Given the description of an element on the screen output the (x, y) to click on. 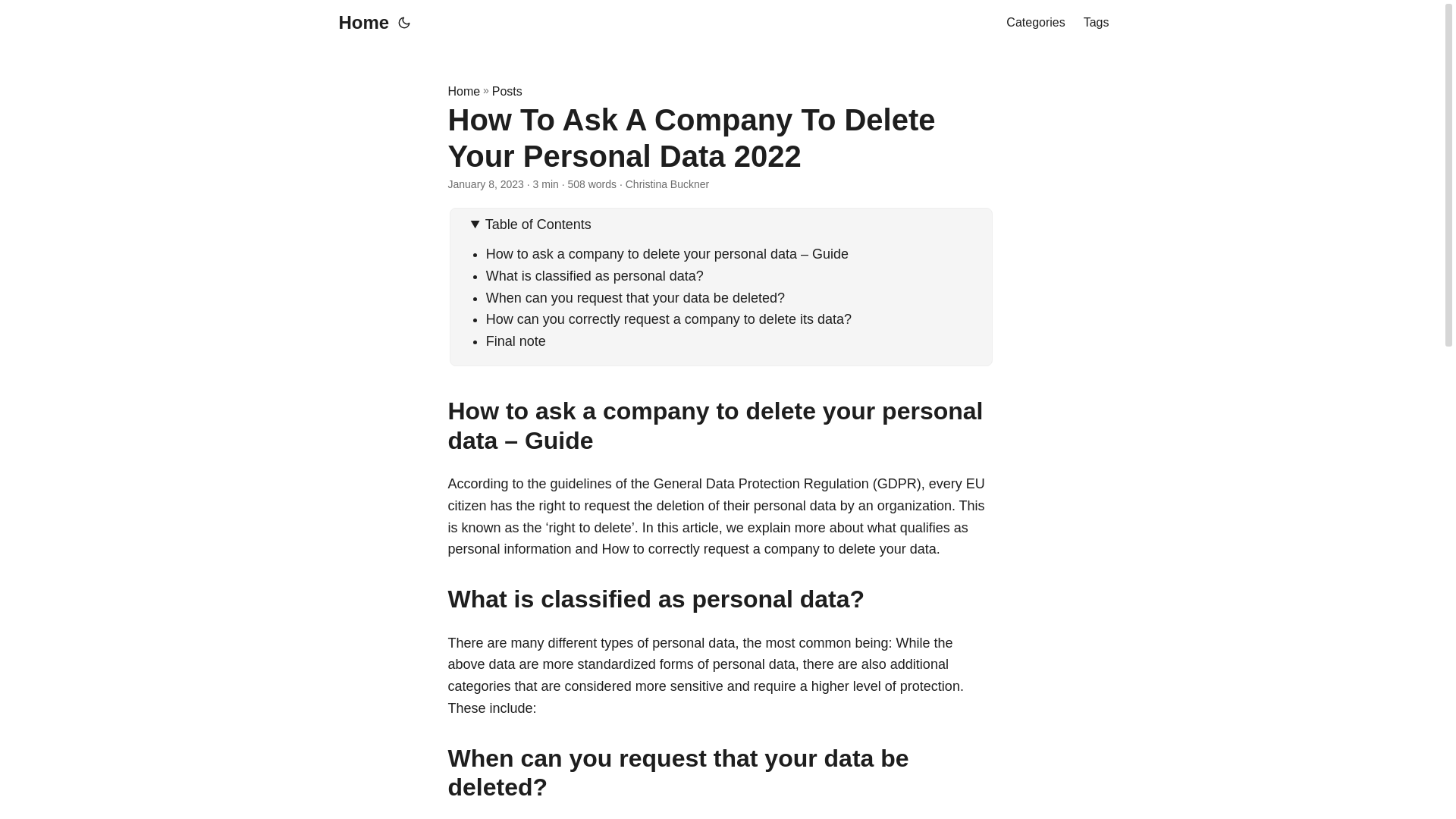
Home (463, 91)
What is classified as personal data? (594, 275)
Home (359, 22)
When can you request that your data be deleted? (635, 297)
Final note (516, 340)
Posts (507, 91)
How can you correctly request a company to delete its data? (668, 319)
Categories (1035, 22)
Categories (1035, 22)
